Given the description of an element on the screen output the (x, y) to click on. 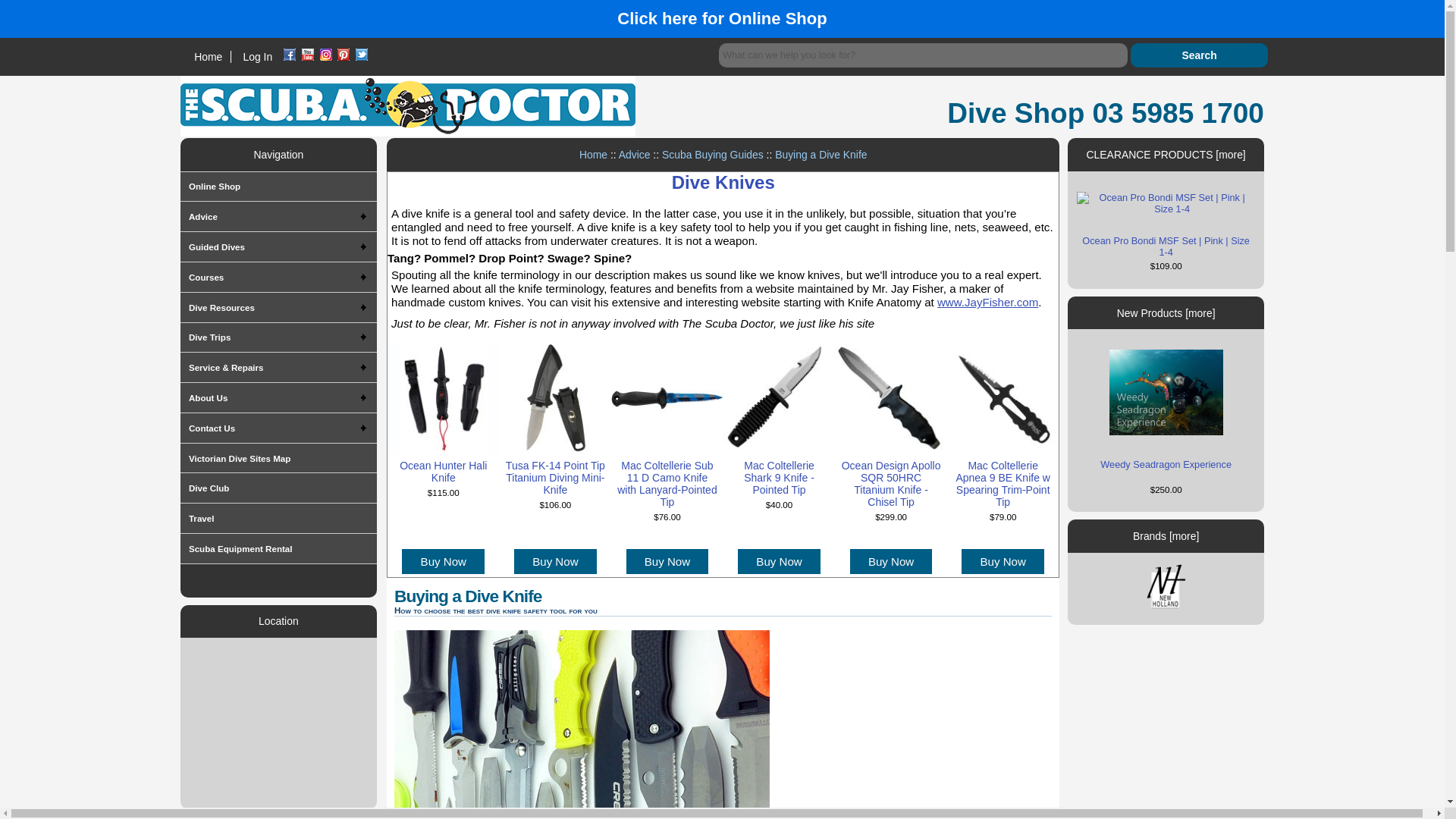
Buying a Dive Knife (582, 724)
What can we help you look for? (922, 55)
Follow us on Instagram (325, 54)
Connect with us on Facebook - scubadoctor (289, 56)
Log In (257, 56)
Ocean Design Apollo SQR 50HRC Titanium Knife - Chisel Tip (890, 398)
Search (1199, 55)
Connect with us on Facebook - scubadoctor (289, 54)
Follow us on Instagram (325, 56)
Home (208, 56)
Return to The Scuba Doctor home page (407, 106)
View us on Pinterest - scubadoctor (343, 56)
Mac Coltellerie Shark 9 Knife - Pointed Tip (779, 398)
Online Shop (252, 186)
Ocean Hunter Hali Knife (443, 398)
